Given the description of an element on the screen output the (x, y) to click on. 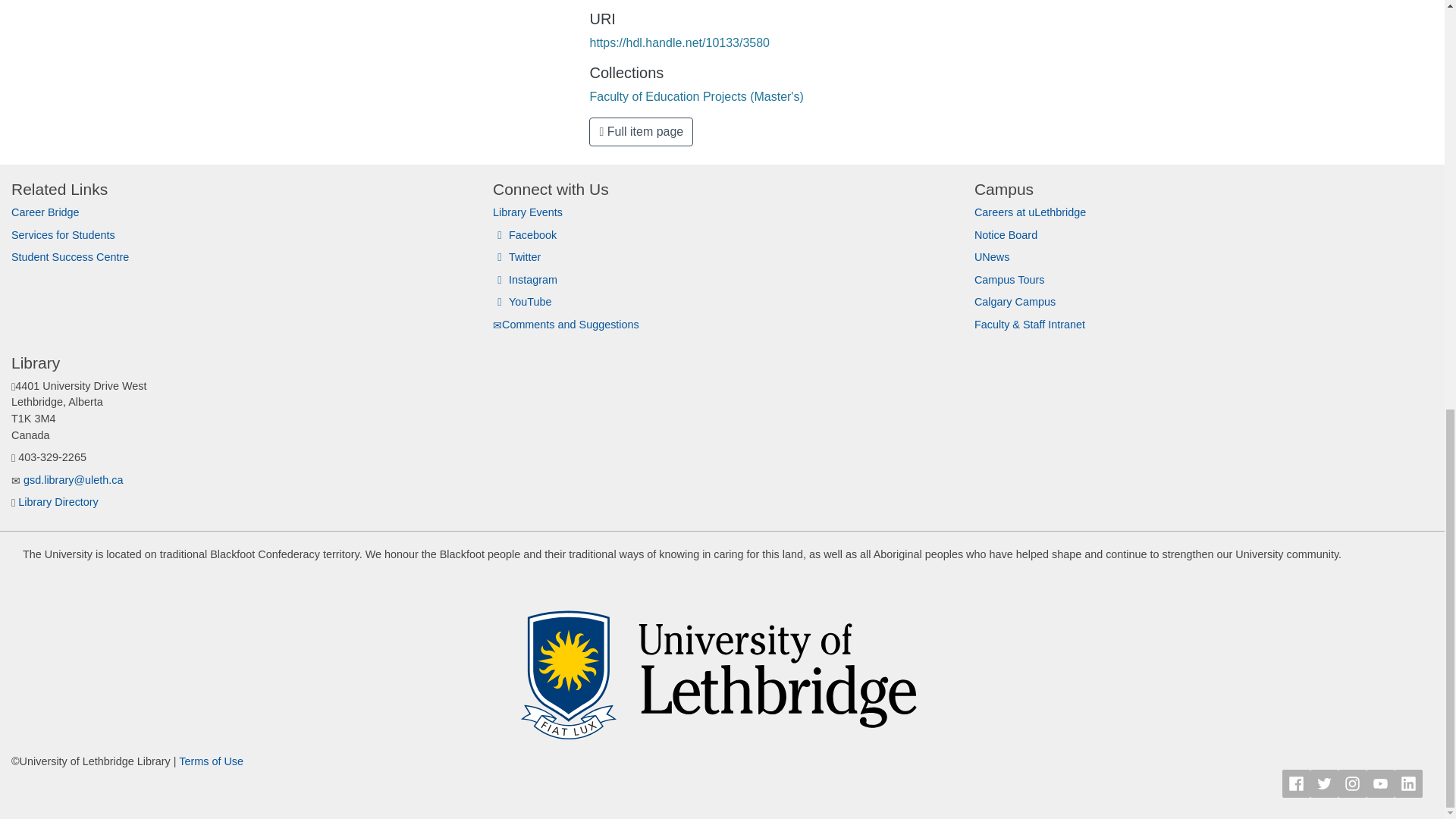
LinkedIn Link (1408, 783)
Instagram Link (1352, 783)
Twitter Link (1324, 783)
Student Success Centre (70, 256)
Calgary Campus (1014, 301)
Library Events (527, 212)
YouTube Link (1380, 783)
Campus Tours (1009, 279)
Comments and Suggestions (566, 324)
Instagram (525, 279)
Twitter (516, 256)
Facebook (524, 234)
Full item page (641, 131)
Careers at uLethbridge (1030, 212)
